Given the description of an element on the screen output the (x, y) to click on. 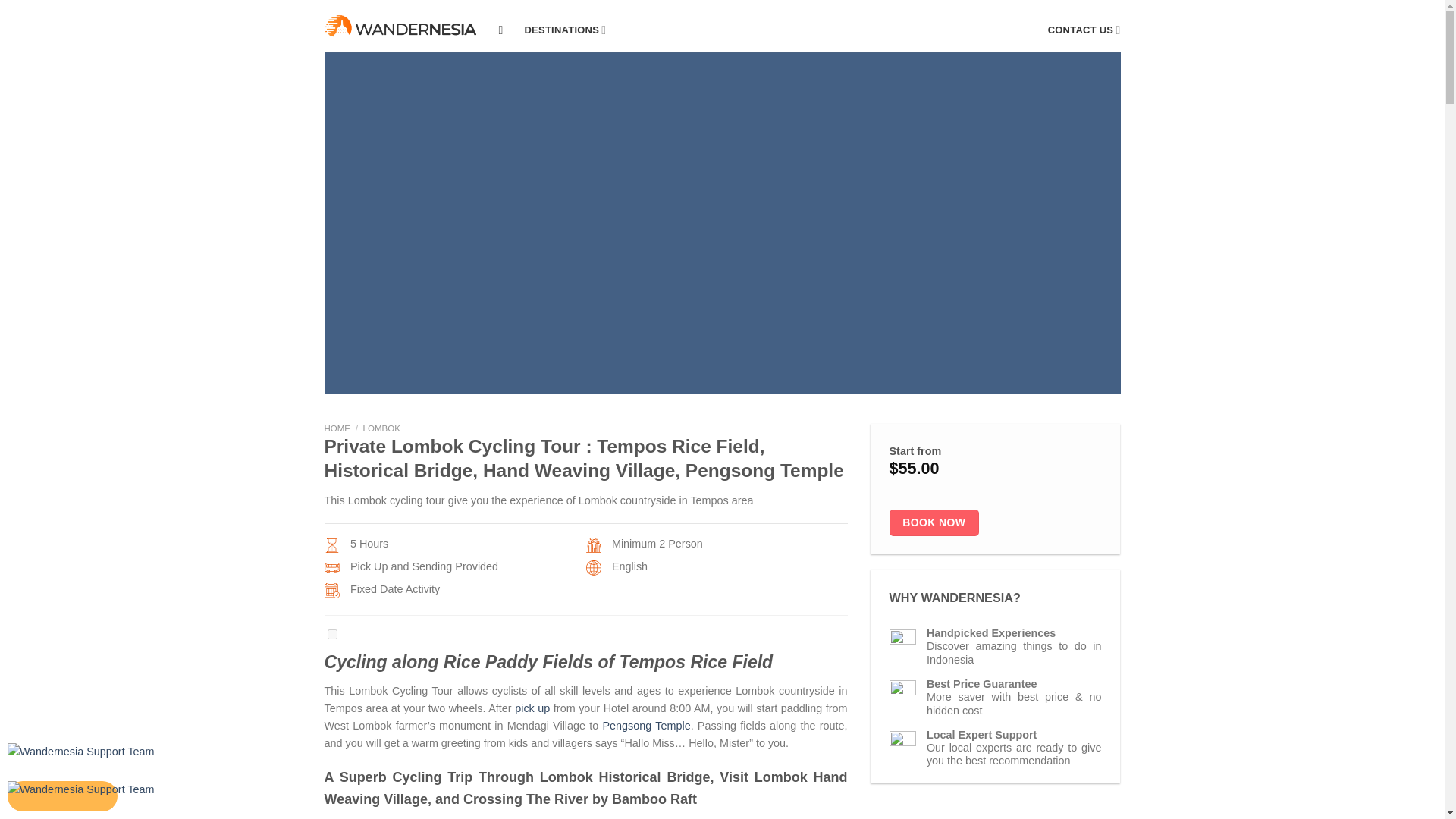
Wandernesia - Wanderlust Indonesia (400, 25)
DESTINATIONS (565, 30)
Pengsong Temple (646, 725)
LOMBOK (381, 428)
pick up (532, 707)
CONTACT US (1084, 30)
HOME (337, 428)
on (332, 634)
